Given the description of an element on the screen output the (x, y) to click on. 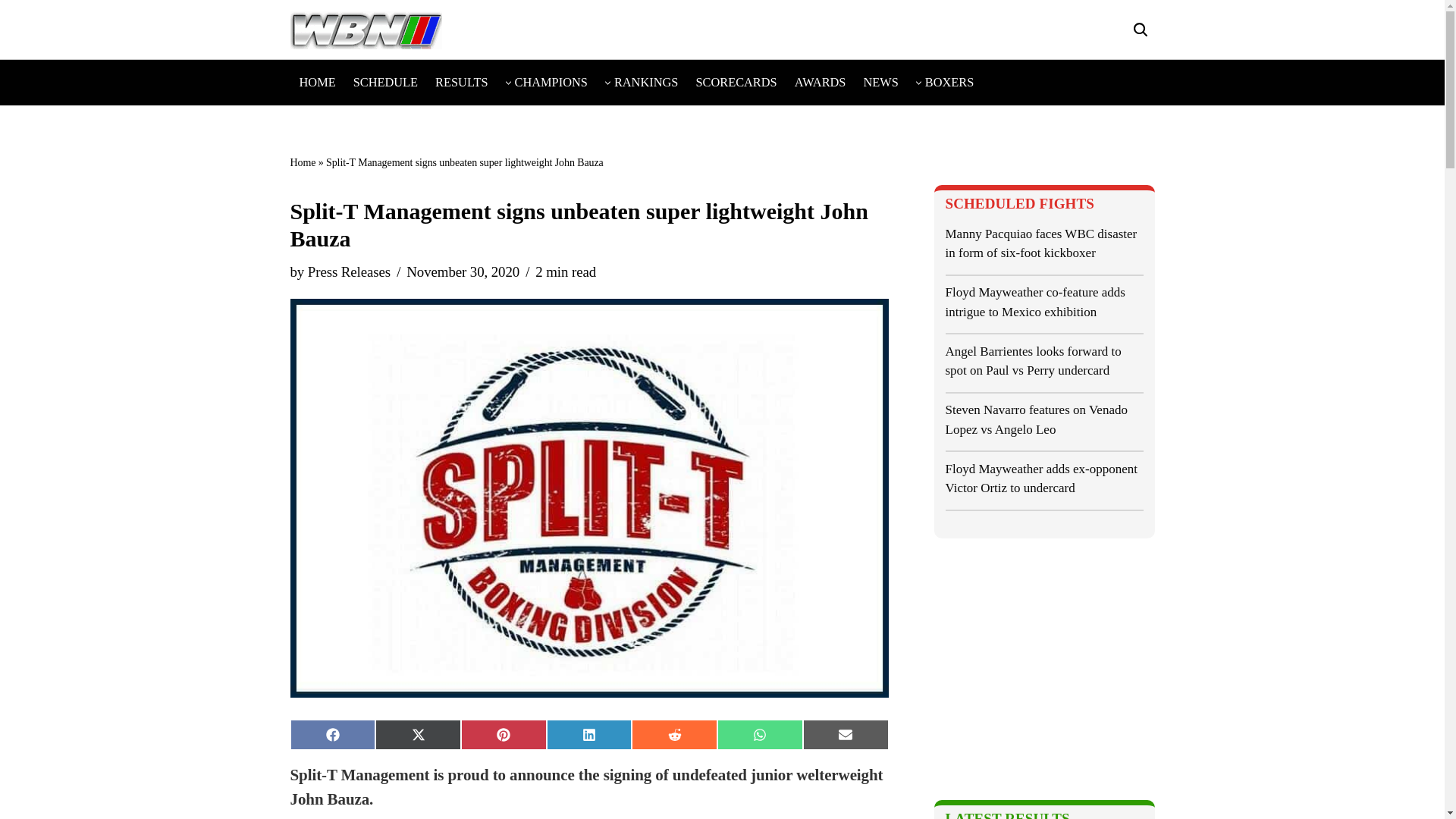
RANKINGS (646, 81)
RESULTS (461, 81)
Posts by Press Releases (348, 271)
AWARDS (819, 81)
Skip to content (11, 31)
NEWS (880, 81)
SCORECARDS (735, 81)
BOXERS (949, 81)
SCHEDULE (385, 81)
CHAMPIONS (551, 81)
HOME (316, 81)
